Given the description of an element on the screen output the (x, y) to click on. 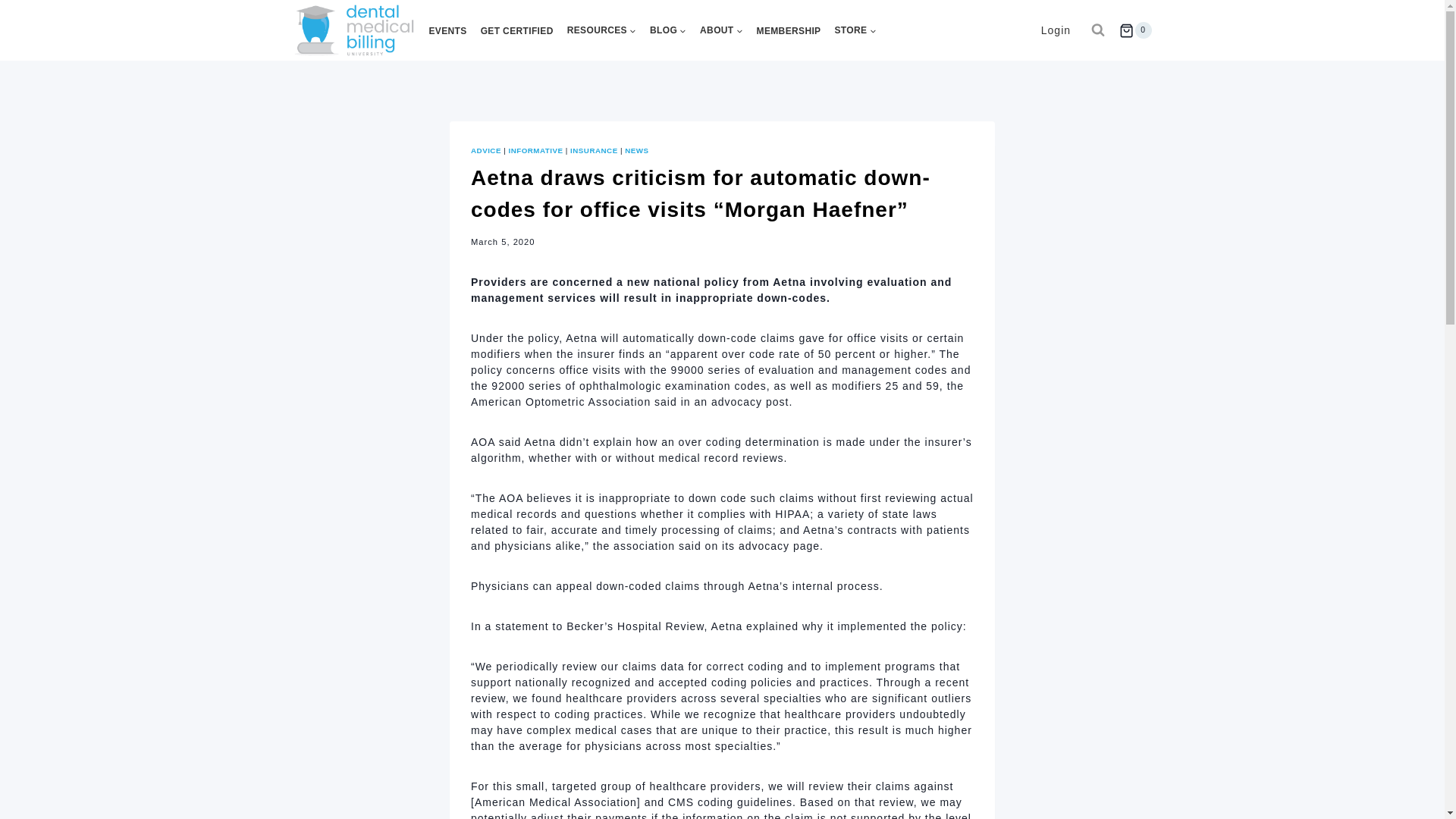
EVENTS (447, 30)
ABOUT (721, 29)
INFORMATIVE (535, 150)
GET CERTIFIED (517, 30)
STORE (855, 29)
RESOURCES (601, 29)
NEWS (635, 150)
0 (1135, 30)
Login (1055, 30)
MEMBERSHIP (788, 30)
INSURANCE (593, 150)
BLOG (668, 29)
ADVICE (485, 150)
